Given the description of an element on the screen output the (x, y) to click on. 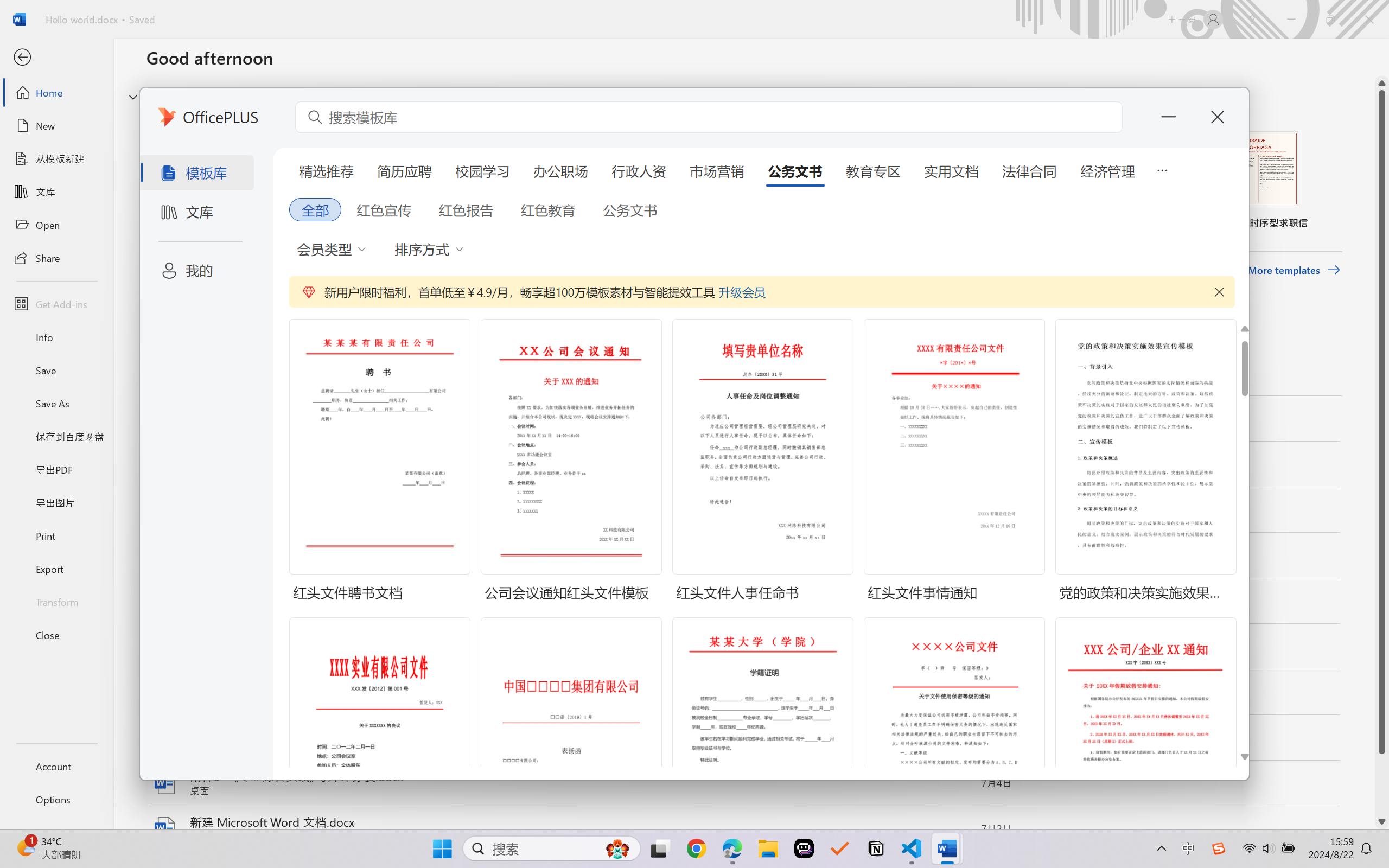
Back (56, 57)
Page down (1382, 784)
Close (56, 634)
AutomationID: DynamicSearchBoxGleamImage (617, 848)
Pin this item to the list (954, 828)
Class: Image (1218, 847)
